Given the description of an element on the screen output the (x, y) to click on. 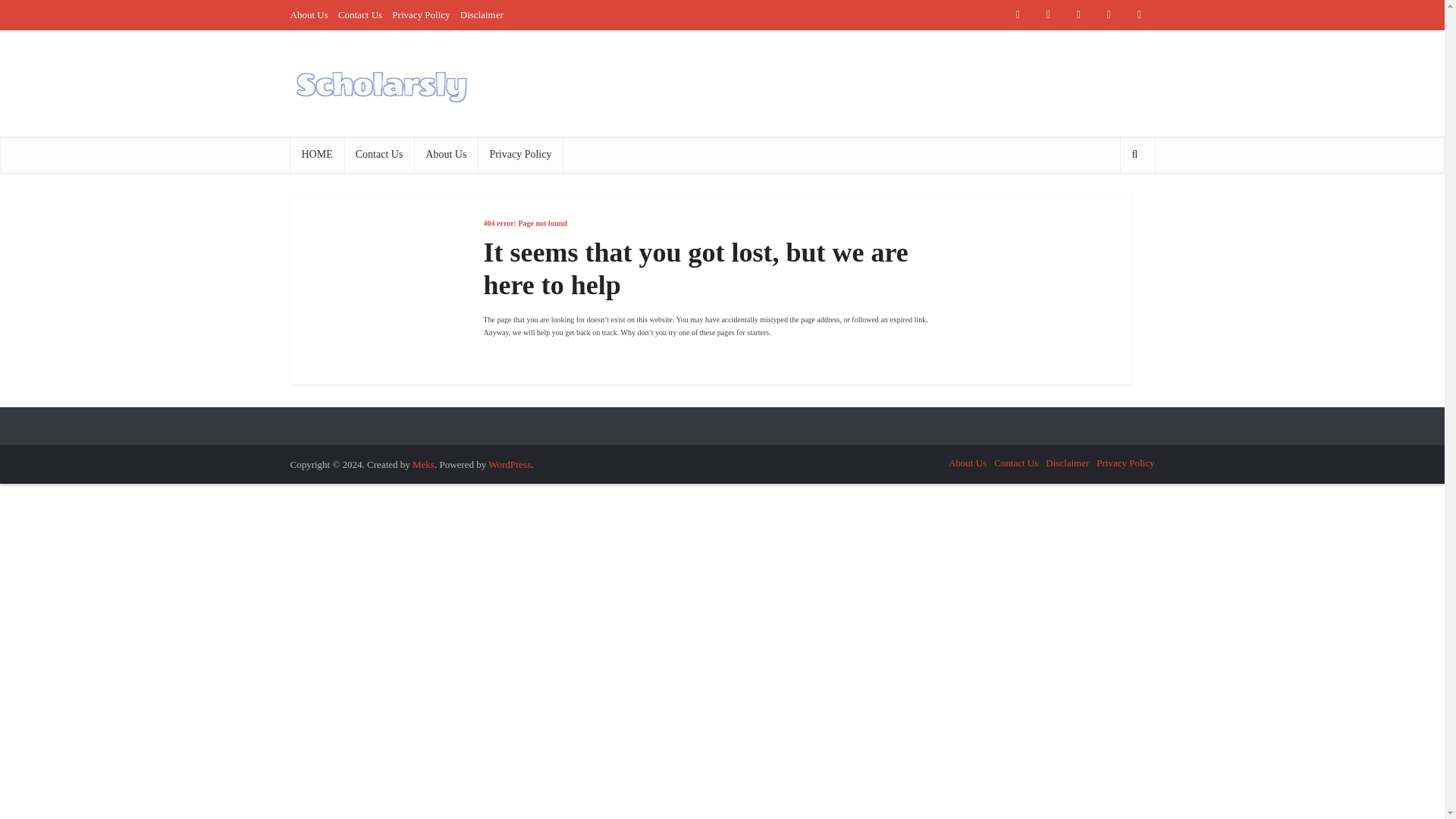
About Us (968, 462)
Meks (422, 464)
HOME (316, 154)
Disclaimer (481, 14)
Contact Us (359, 14)
Disclaimer (1067, 462)
Contact Us (378, 154)
WordPress (509, 464)
Contact Us (1016, 462)
About Us (445, 154)
About Us (308, 14)
Privacy Policy (420, 14)
Privacy Policy (1125, 462)
Privacy Policy (519, 154)
